Given the description of an element on the screen output the (x, y) to click on. 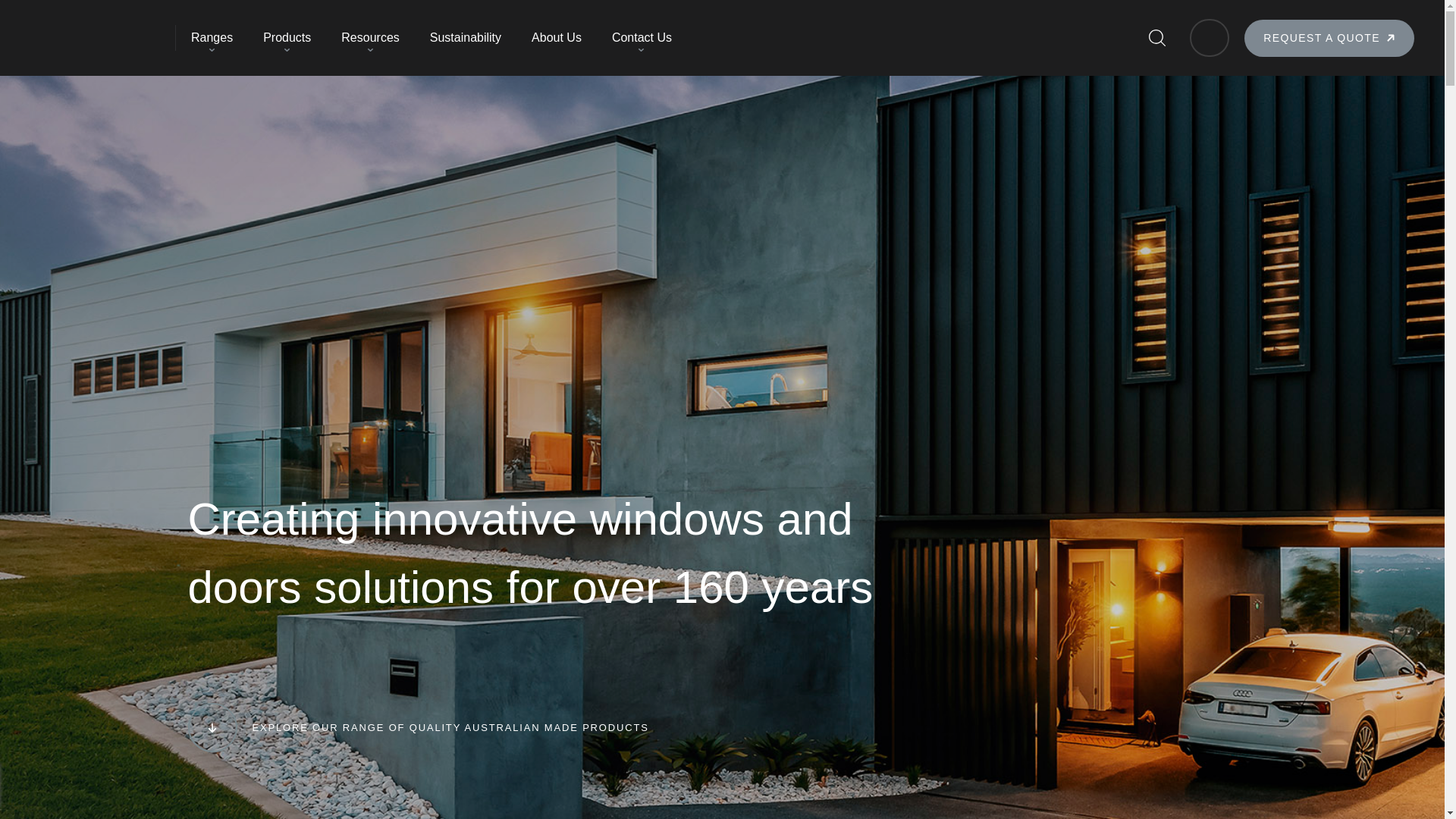
Products Element type: text (286, 37)
Contact Us Element type: text (641, 37)
REQUEST A QUOTE Element type: text (1329, 37)
EXPLORE OUR RANGE OF QUALITY AUSTRALIAN MADE PRODUCTS Element type: text (722, 727)
Sustainability Element type: text (465, 37)
About Us Element type: text (556, 37)
Ranges Element type: text (211, 37)
Resources Element type: text (369, 37)
